Given the description of an element on the screen output the (x, y) to click on. 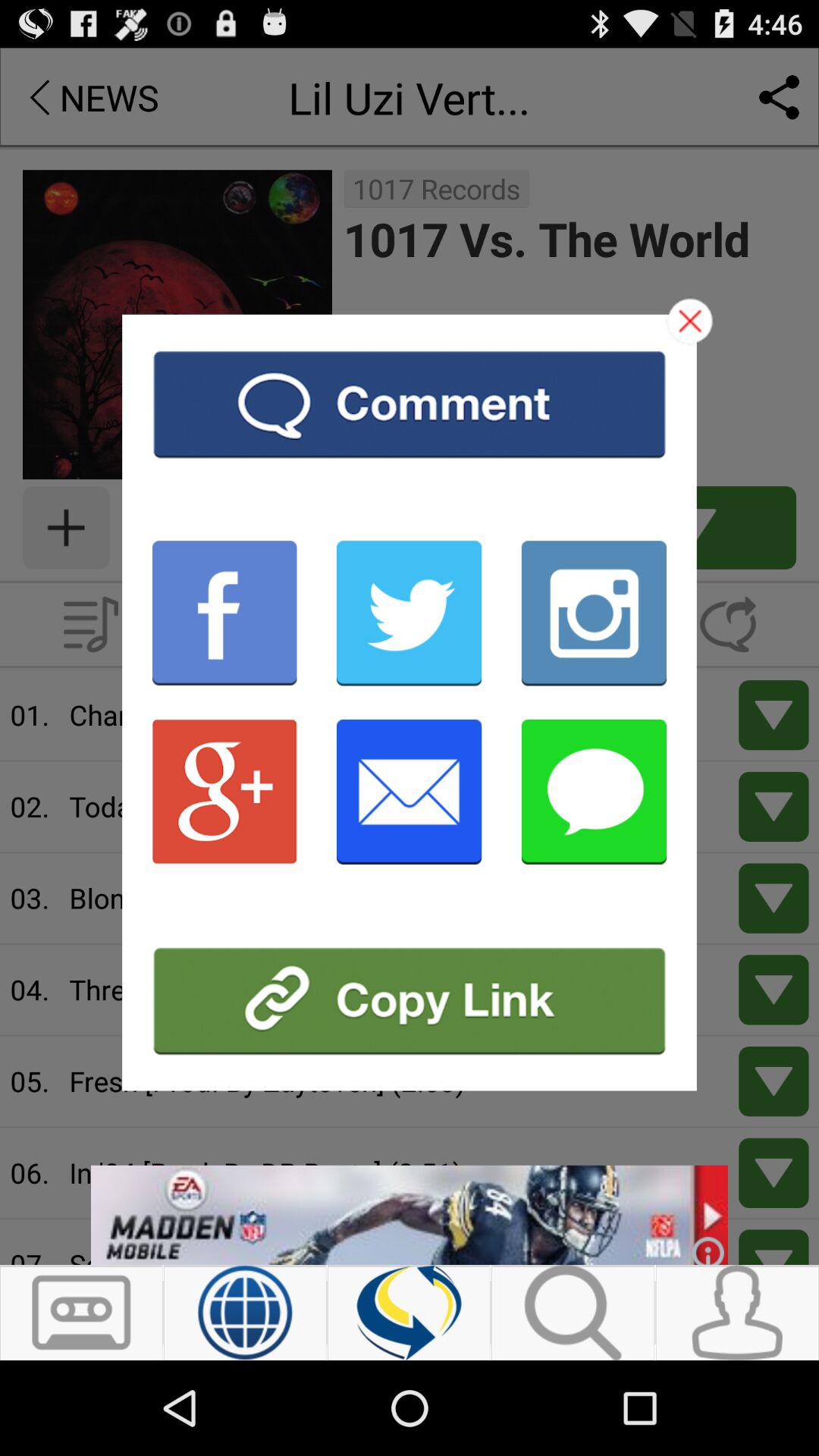
go to camera (593, 612)
